Given the description of an element on the screen output the (x, y) to click on. 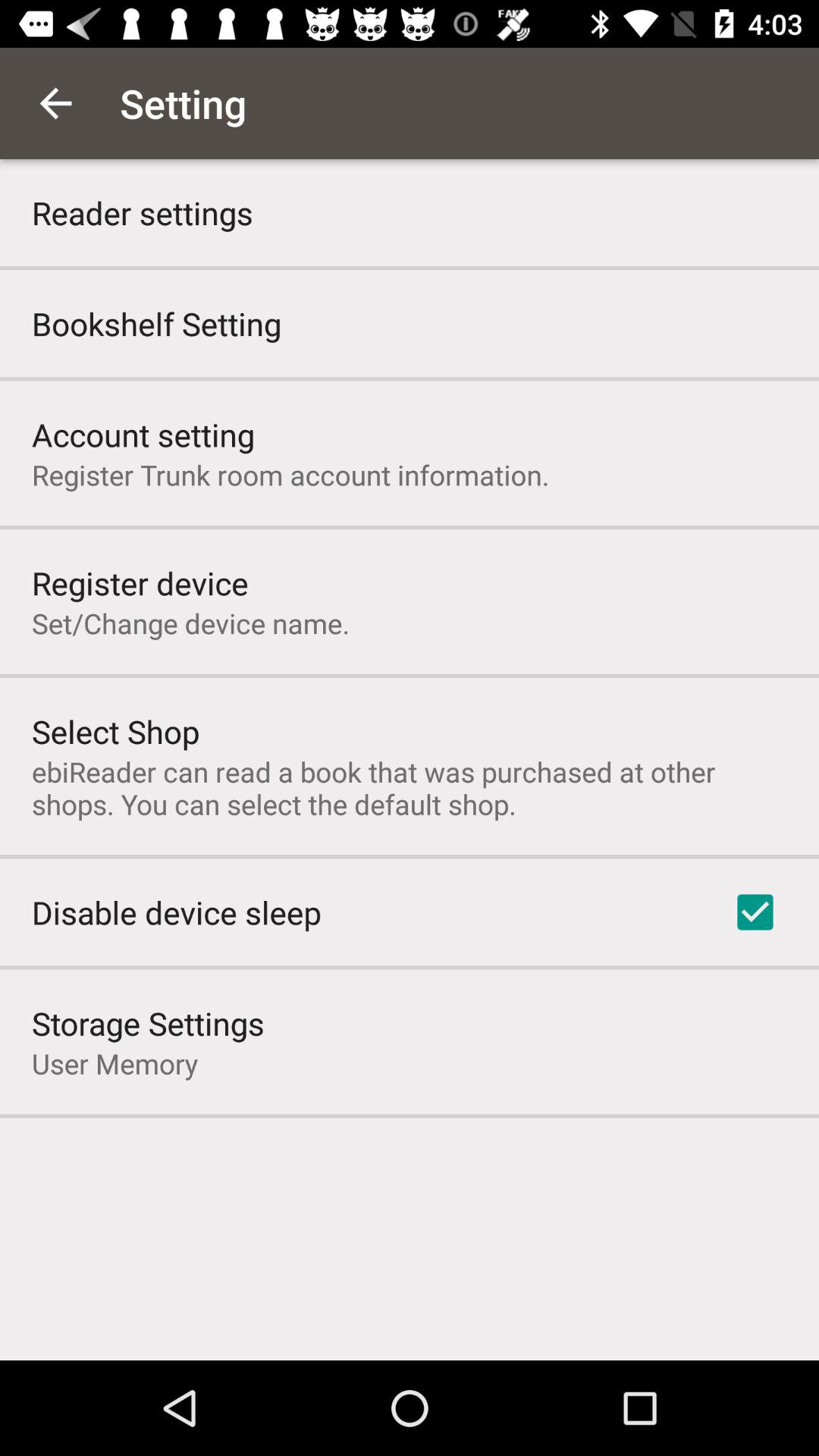
scroll until the disable device sleep app (176, 911)
